Given the description of an element on the screen output the (x, y) to click on. 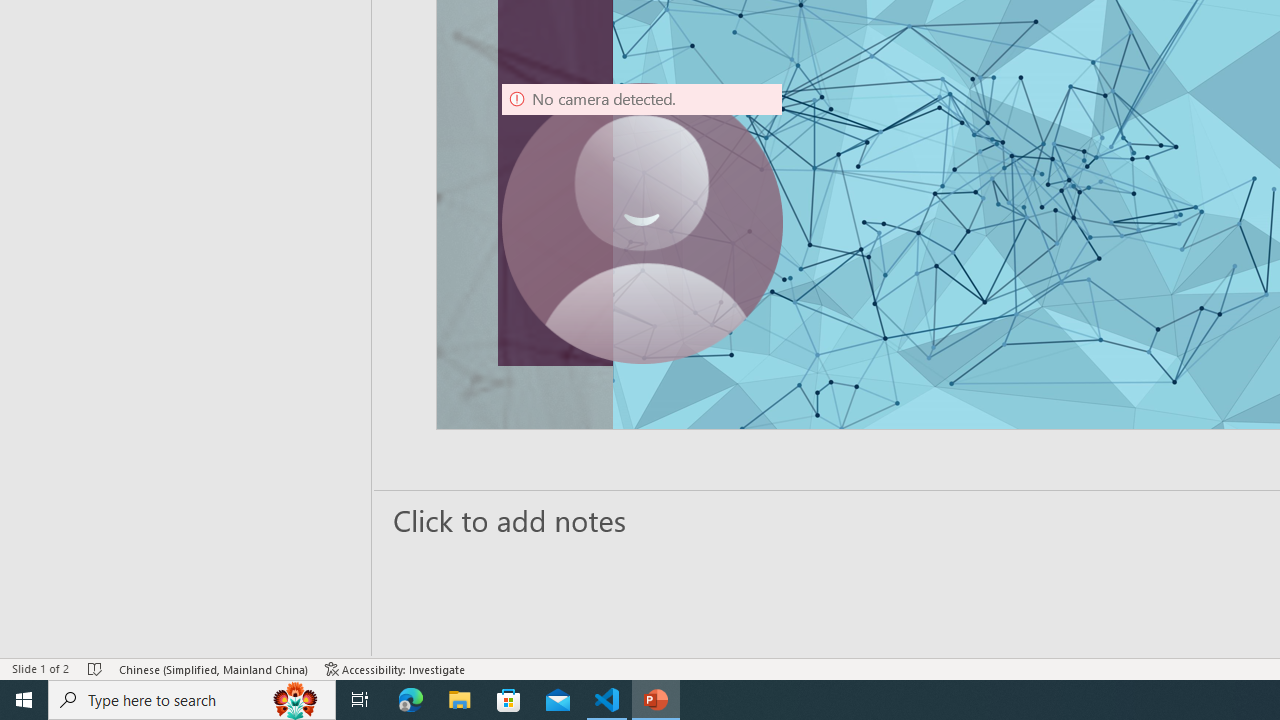
Camera 9, No camera detected. (641, 223)
